Given the description of an element on the screen output the (x, y) to click on. 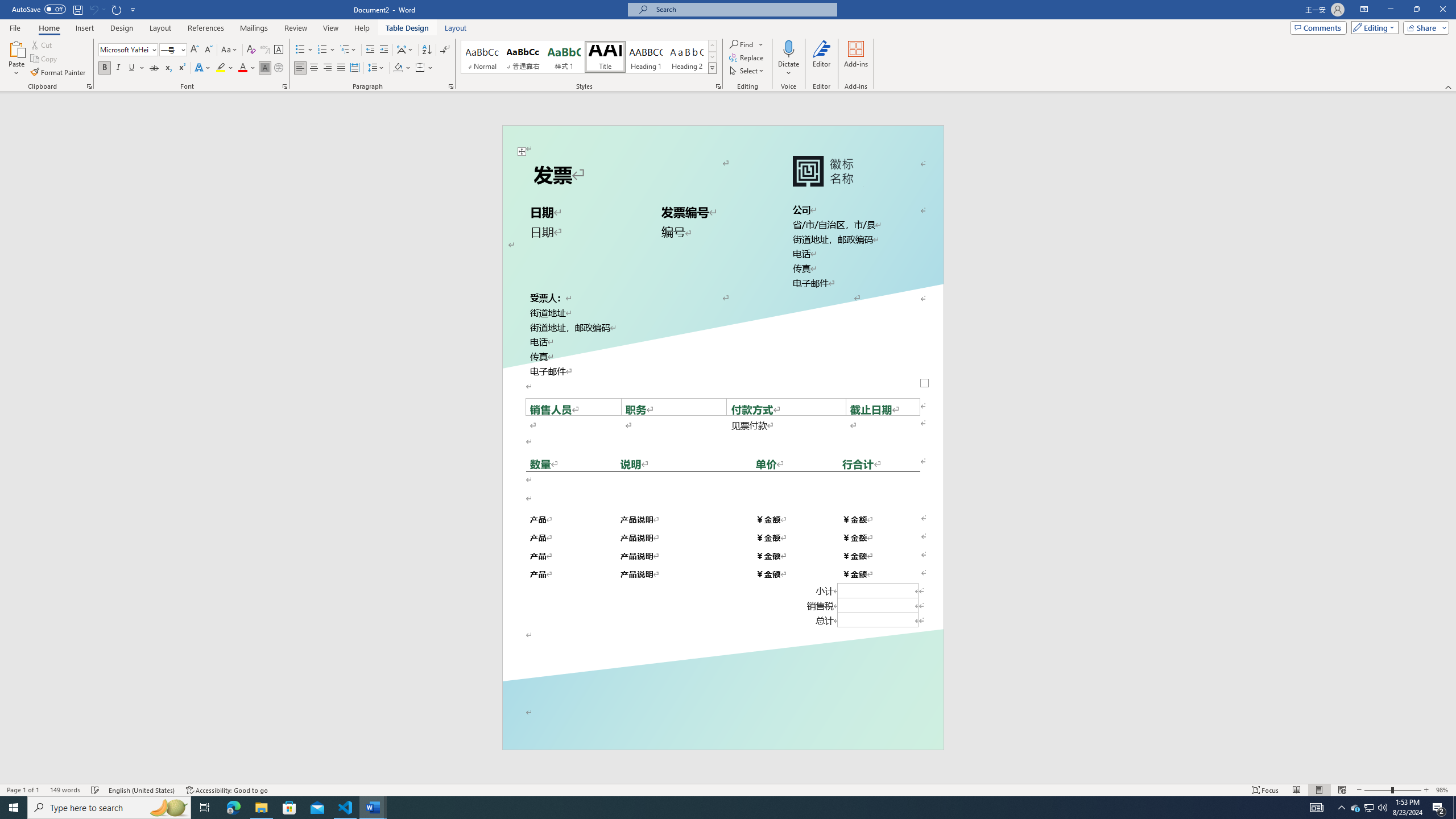
Heading 2 (686, 56)
Can't Undo (92, 9)
Can't Undo (96, 9)
